Given the description of an element on the screen output the (x, y) to click on. 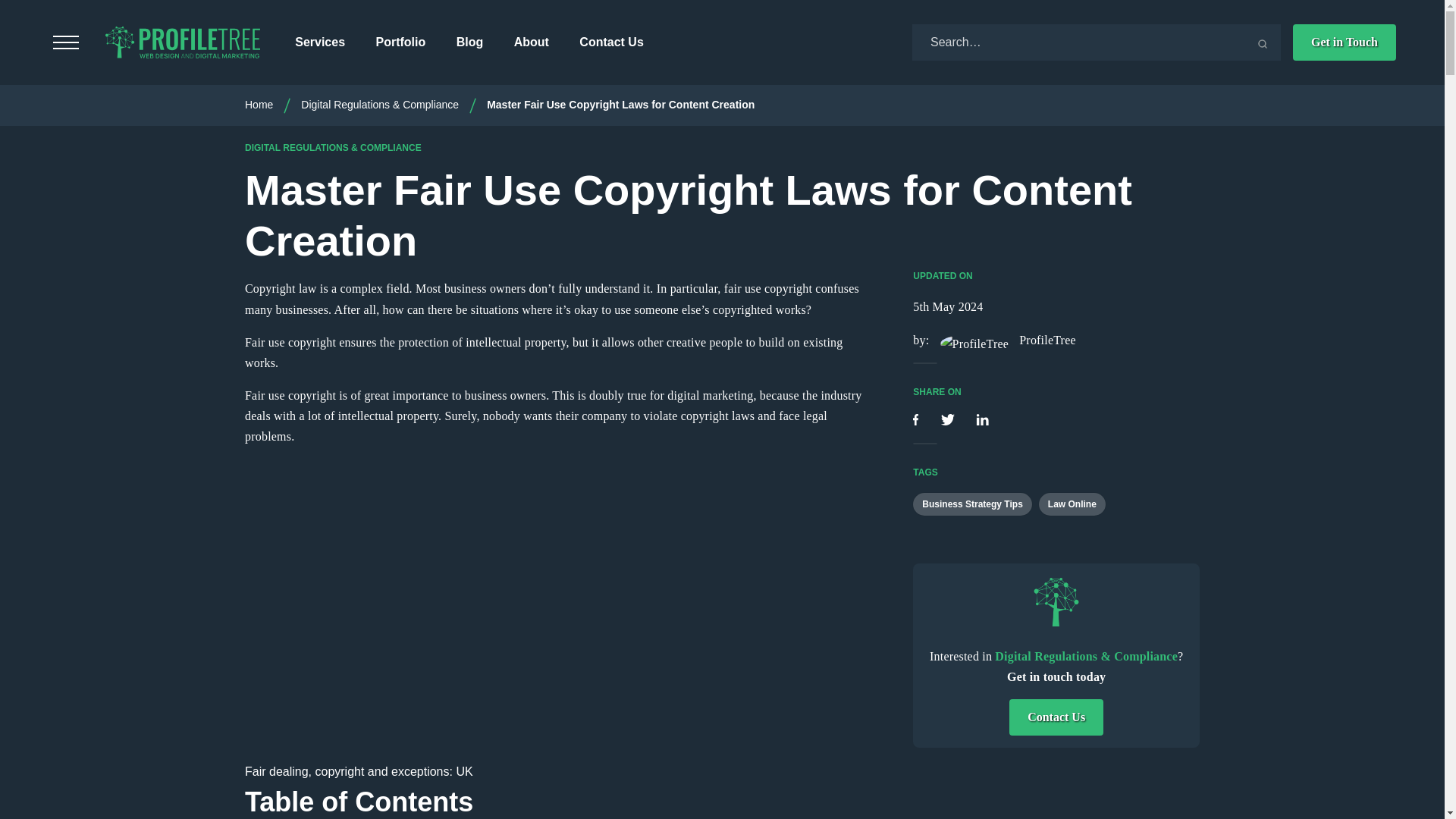
Home (258, 104)
Portfolio (400, 42)
Services (320, 42)
Share on LinkedIn (981, 420)
Blog (470, 42)
Share on Twitter (949, 420)
Contact Us (611, 42)
About (530, 42)
Get in Touch (1344, 42)
